Given the description of an element on the screen output the (x, y) to click on. 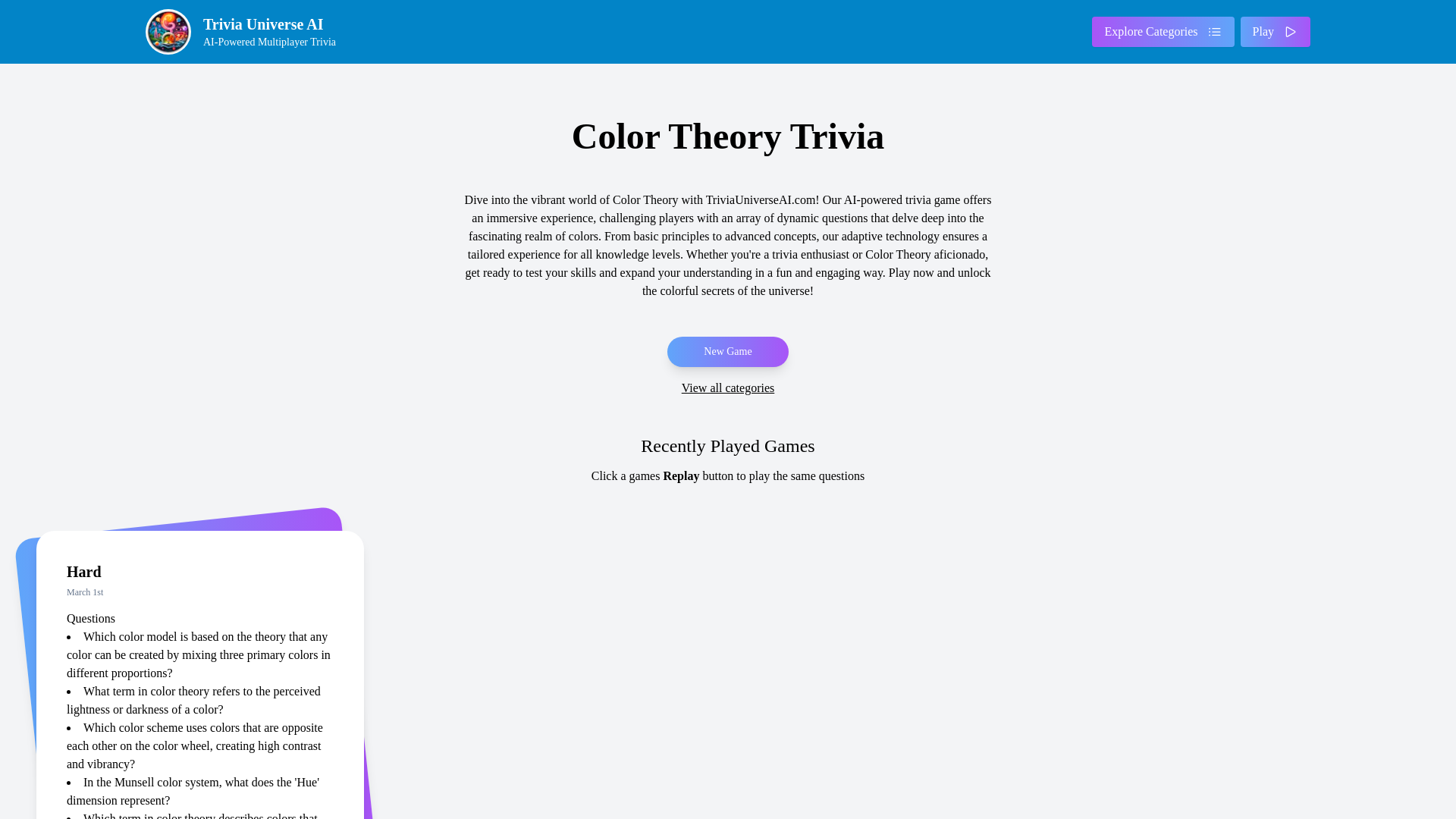
New Game (726, 351)
View all categories (727, 388)
Explore Categories (1162, 31)
Play (246, 31)
